Given the description of an element on the screen output the (x, y) to click on. 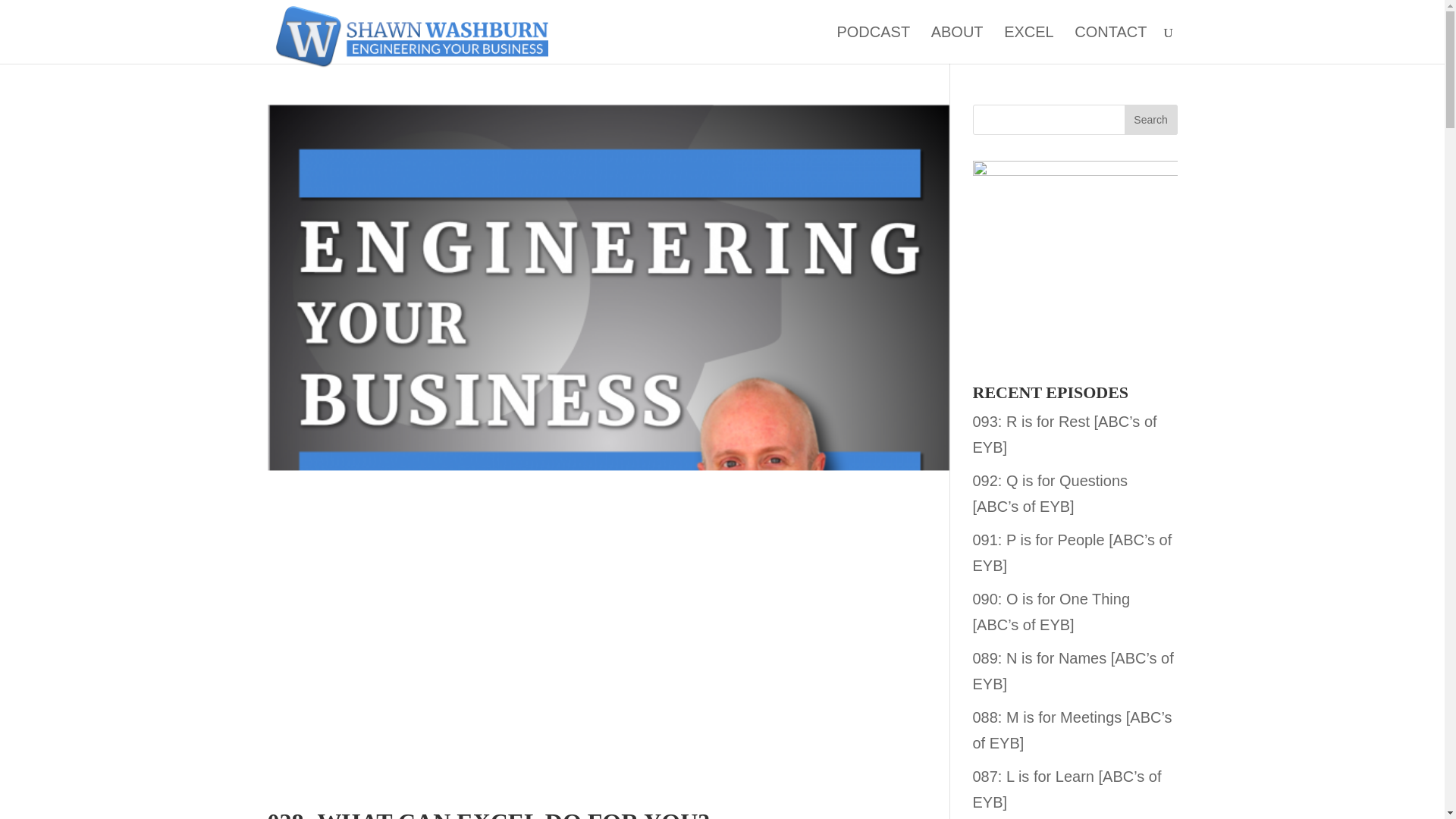
EXCEL (1029, 44)
PODCAST (872, 44)
028: WHAT CAN EXCEL DO FOR YOU? (488, 813)
ABOUT (957, 44)
CONTACT (1110, 44)
Search (1150, 119)
